Given the description of an element on the screen output the (x, y) to click on. 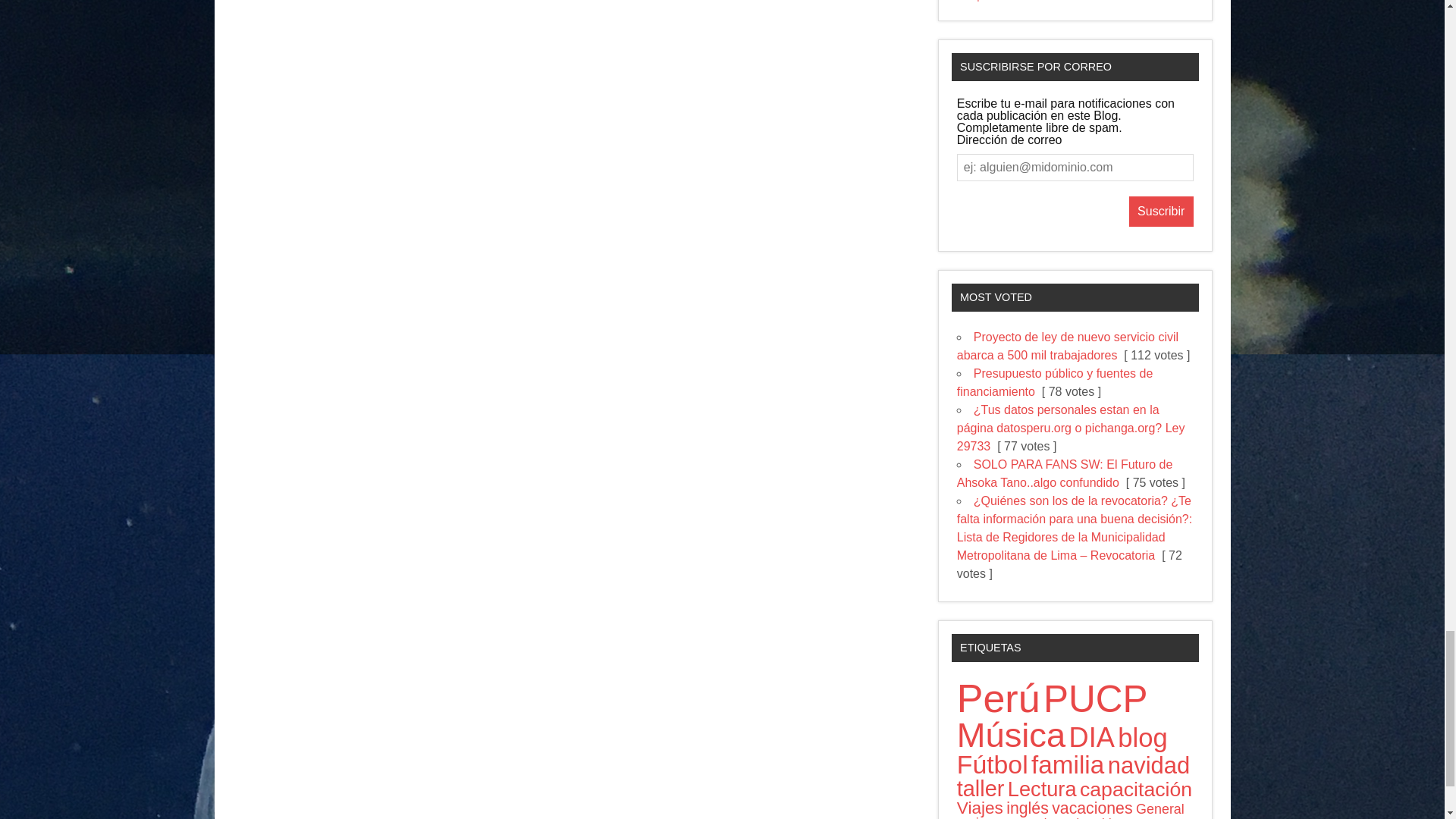
Suscribir (1161, 211)
